Given the description of an element on the screen output the (x, y) to click on. 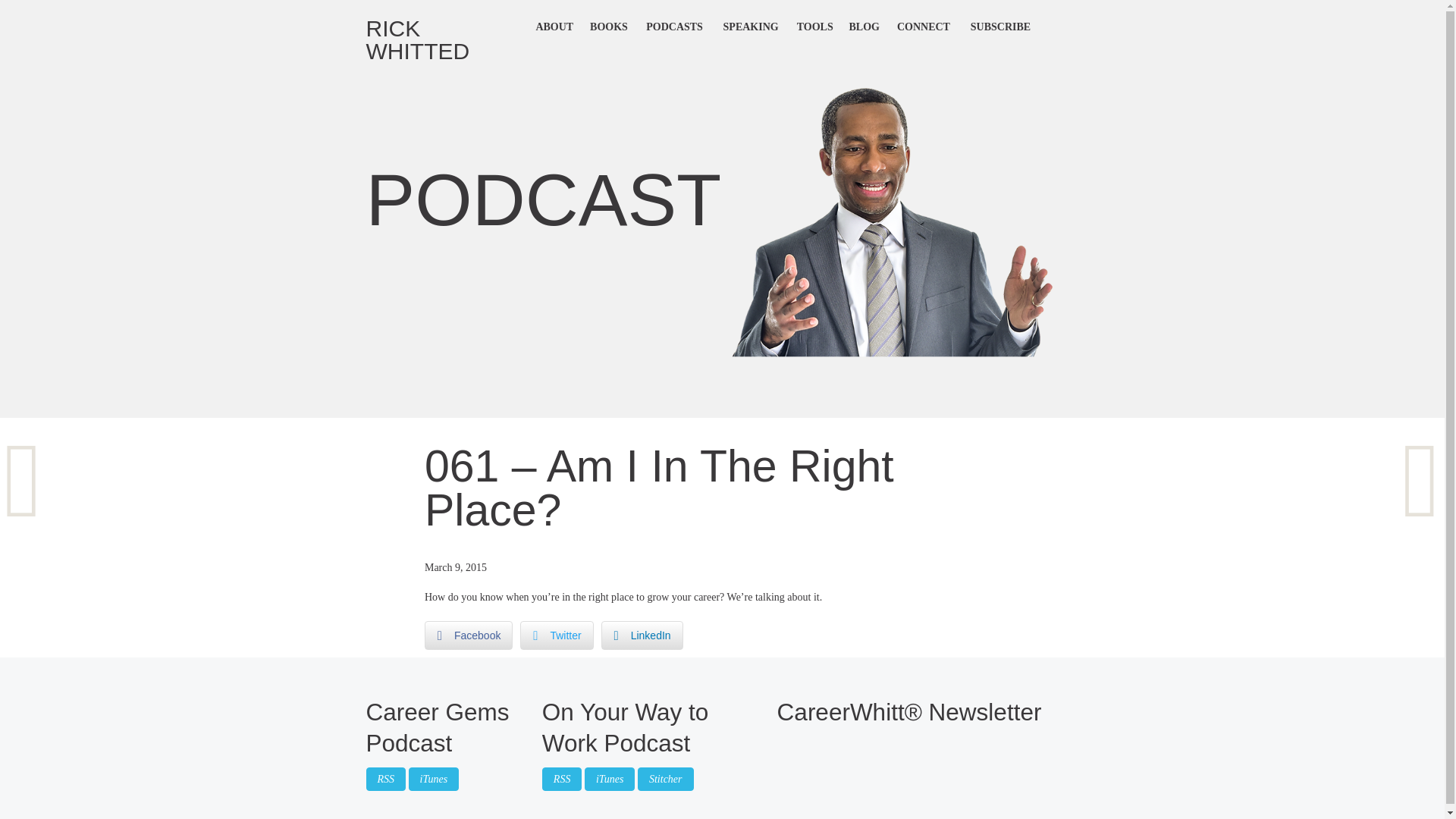
Stitcher (666, 779)
RSS (561, 779)
Twitter (555, 635)
SUBSCRIBE (1000, 27)
RICK WHITTED (446, 39)
Meet Rick (553, 27)
iTunes (609, 779)
BLOG (864, 27)
TOOLS (815, 27)
ABOUT (553, 27)
